Given the description of an element on the screen output the (x, y) to click on. 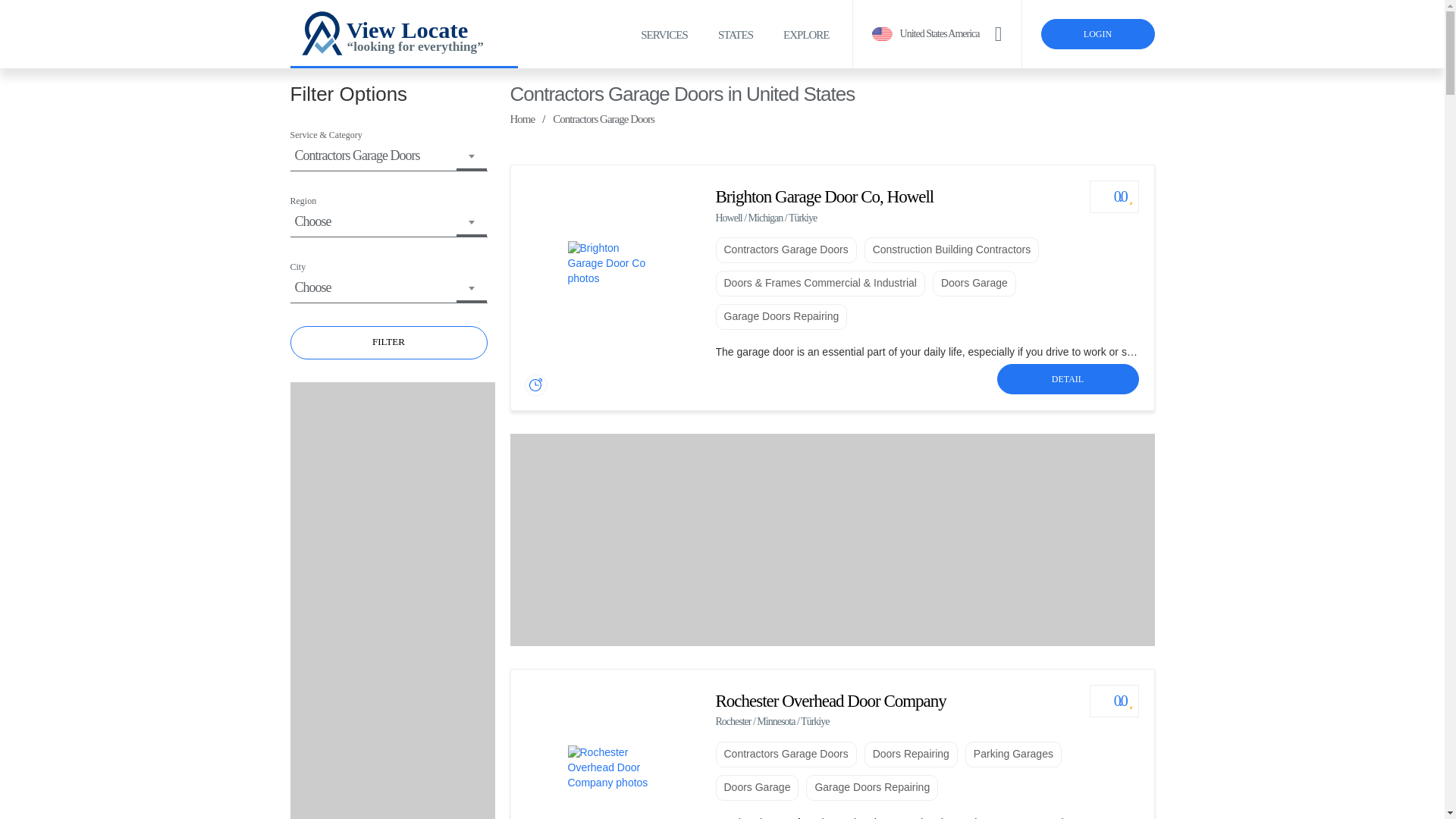
Construction Building Contractors (951, 249)
Garage Doors Repairing (781, 316)
Contractors Garage Doors (786, 249)
FILTER (387, 342)
Home (521, 119)
Garage Doors Repairing (871, 787)
Choose (387, 221)
Contractors Garage Doors (786, 249)
Brighton Garage Door Co, Howell (825, 196)
Doors Garage (974, 283)
Parking Garages (1013, 754)
LOGIN (1097, 33)
Rochester Overhead Door Company (831, 700)
Construction Building Contractors (951, 249)
Garage Doors Repairing (781, 316)
